Given the description of an element on the screen output the (x, y) to click on. 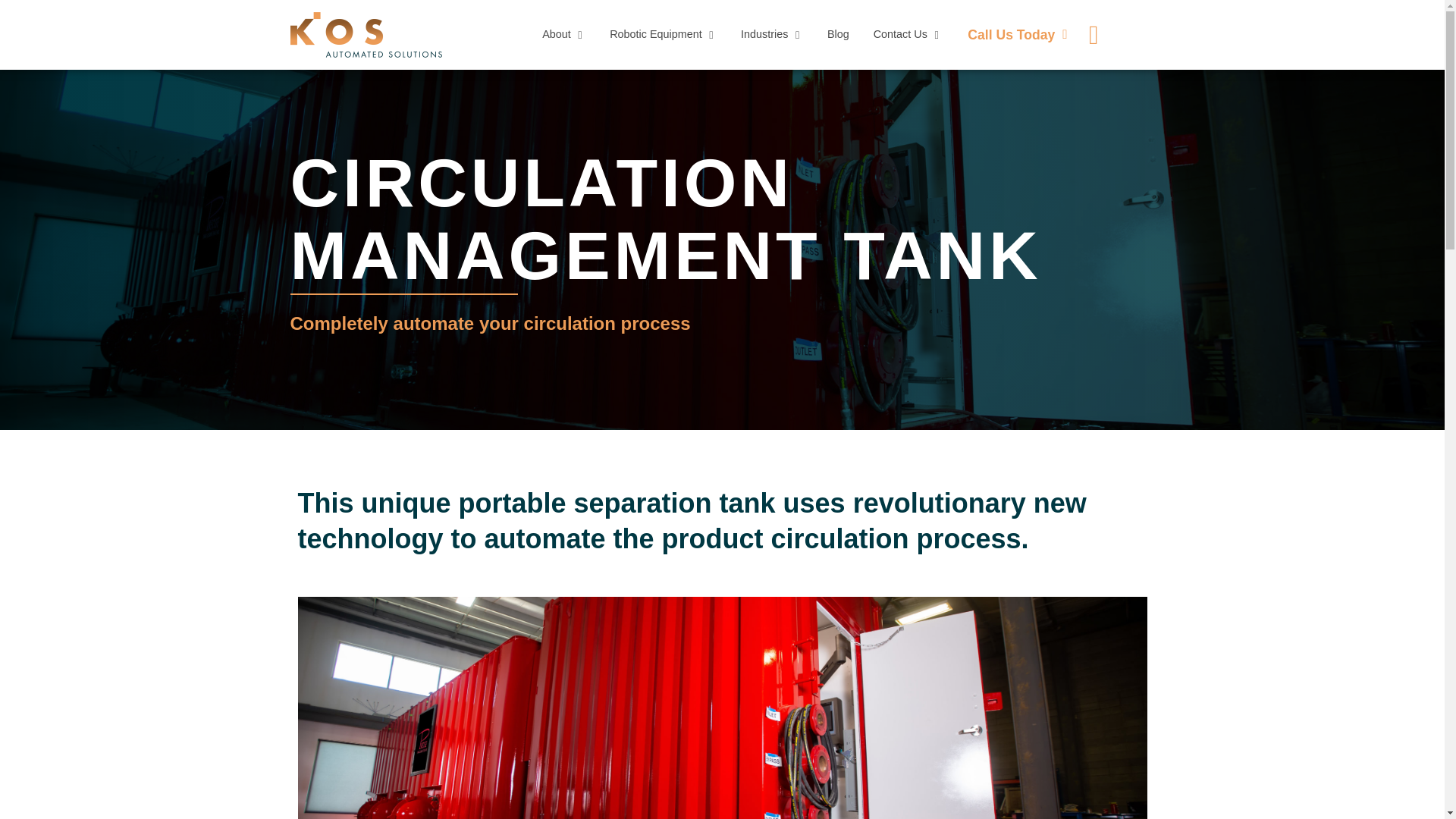
Blog (837, 34)
